Given the description of an element on the screen output the (x, y) to click on. 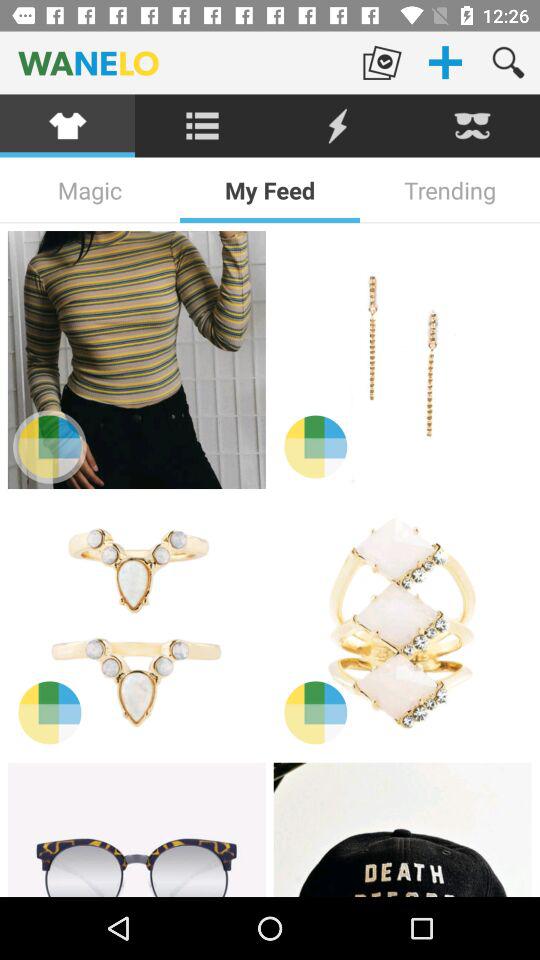
select the magic item (90, 190)
